Given the description of an element on the screen output the (x, y) to click on. 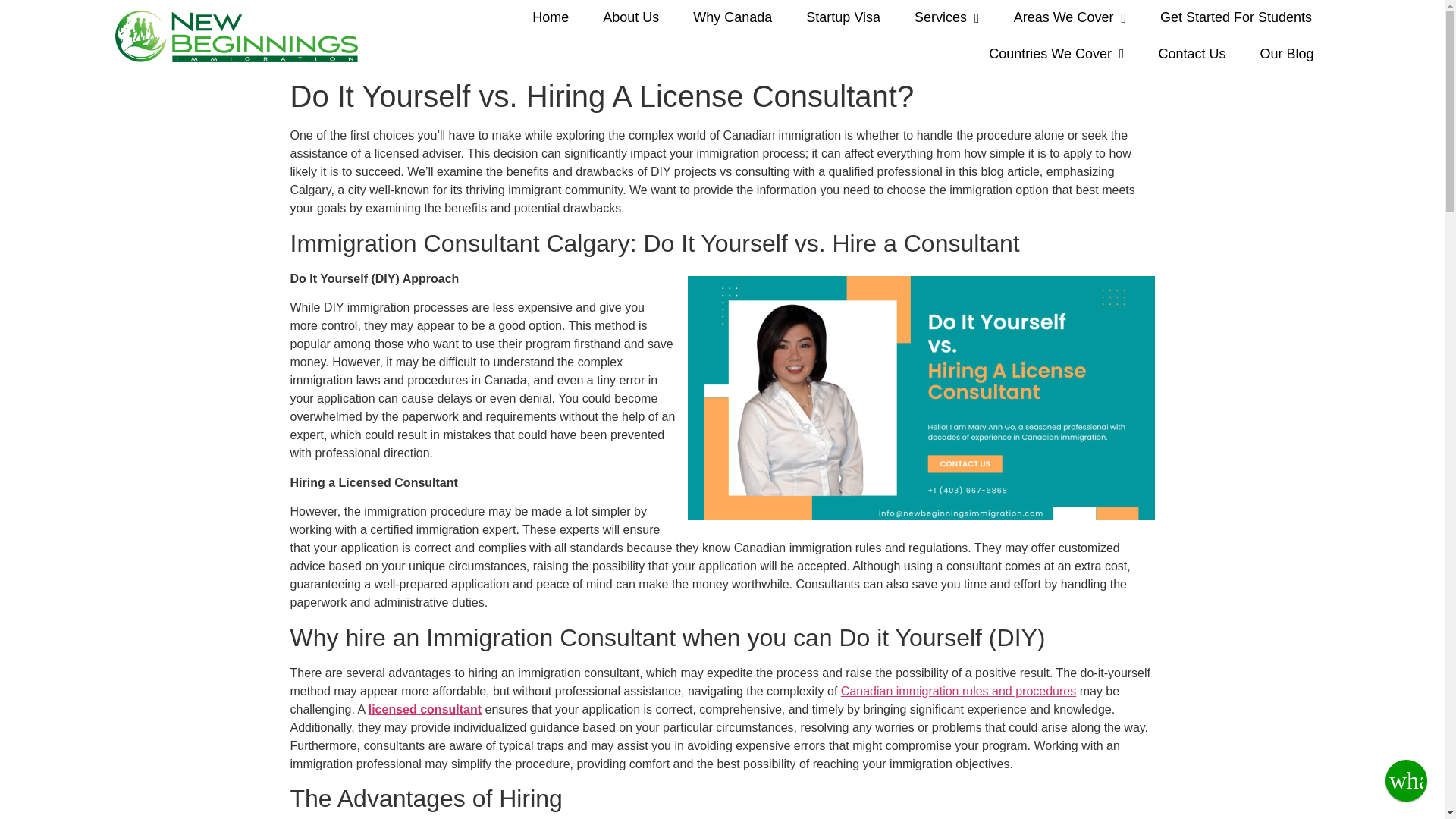
Services (946, 18)
Why Canada (732, 18)
Home (549, 18)
Startup Visa (842, 18)
Areas We Cover (1069, 18)
Do It Yourself vs. Hiring A License Consultant? 1 (920, 398)
About Us (631, 18)
